Given the description of an element on the screen output the (x, y) to click on. 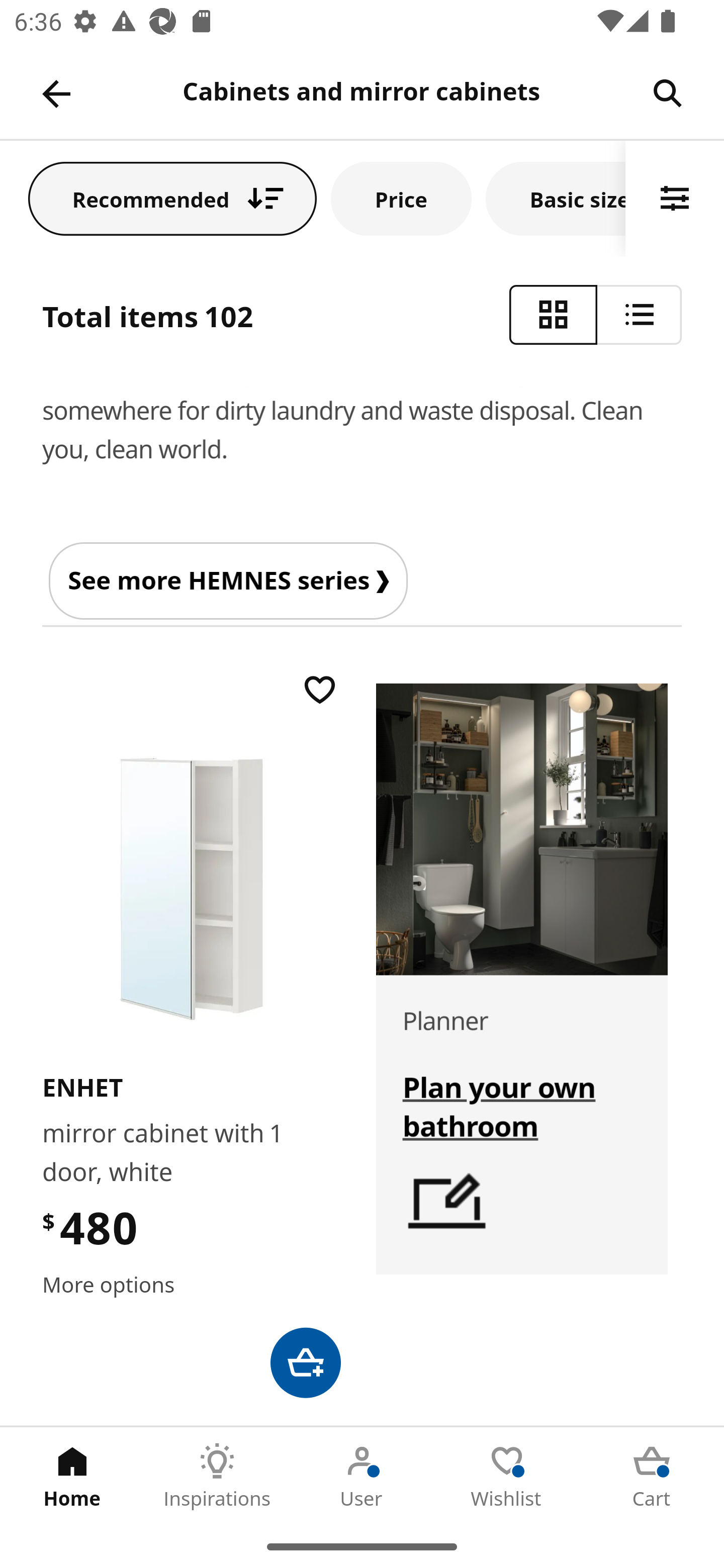
Recommended (172, 198)
Price (400, 198)
Basic sizes (555, 198)
See more HEMNES series ❯ (228, 579)
latest (521, 829)
Plan your own bathroom (497, 1106)
latest (446, 1203)
Home
Tab 1 of 5 (72, 1476)
Inspirations
Tab 2 of 5 (216, 1476)
User
Tab 3 of 5 (361, 1476)
Wishlist
Tab 4 of 5 (506, 1476)
Cart
Tab 5 of 5 (651, 1476)
